Given the description of an element on the screen output the (x, y) to click on. 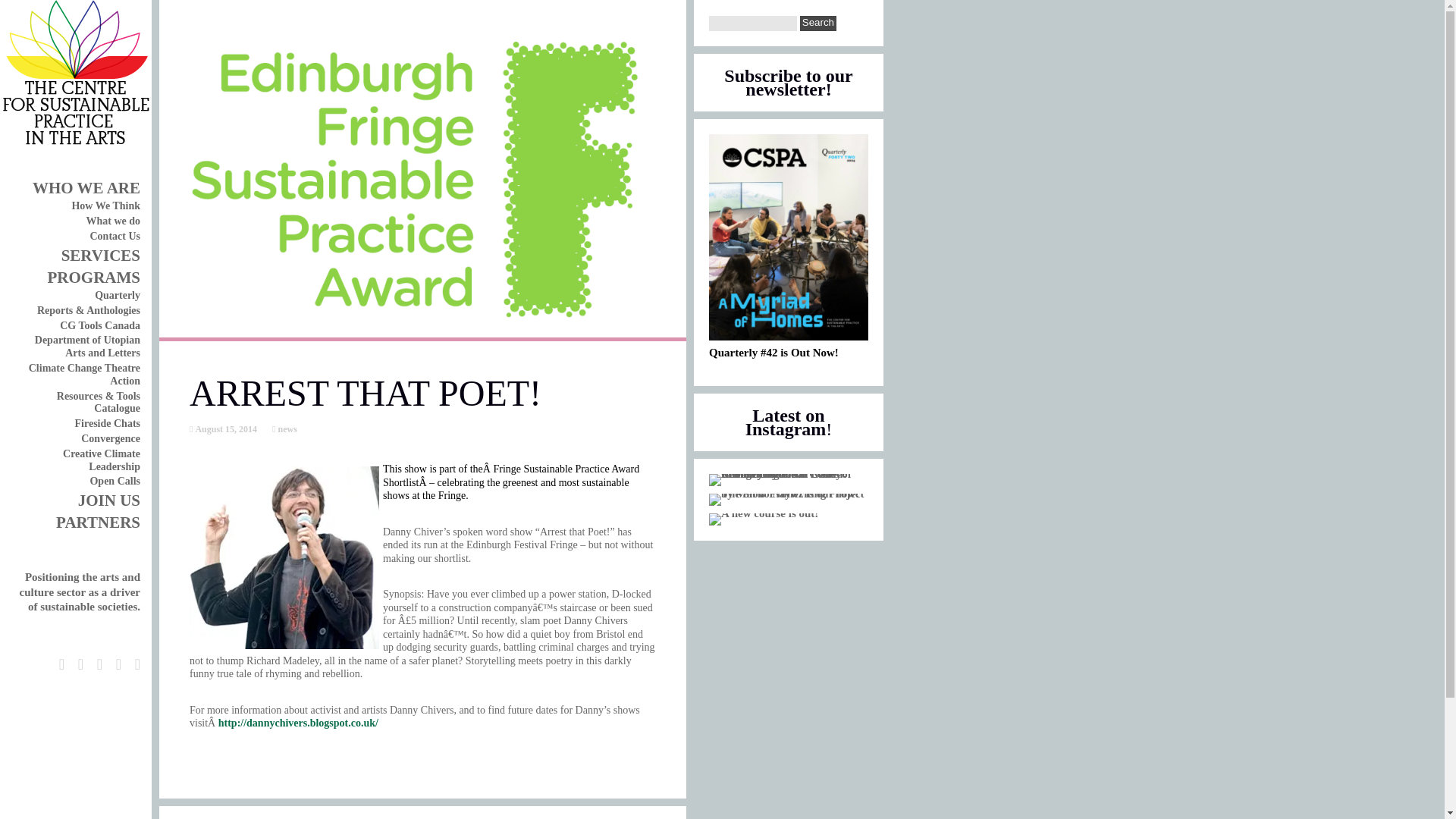
Fireside Chats (107, 423)
August 15, 2014 (224, 429)
SERVICES (100, 255)
Department of Utopian Arts and Letters (86, 346)
news (286, 429)
PARTNERS (97, 522)
Open Calls (113, 480)
How We Think (105, 205)
Search (817, 23)
JOIN US (108, 500)
Subscribe to our newsletter! (787, 82)
Convergence (110, 438)
CG Tools Canada (99, 325)
WHO WE ARE (85, 188)
Search (817, 23)
